Given the description of an element on the screen output the (x, y) to click on. 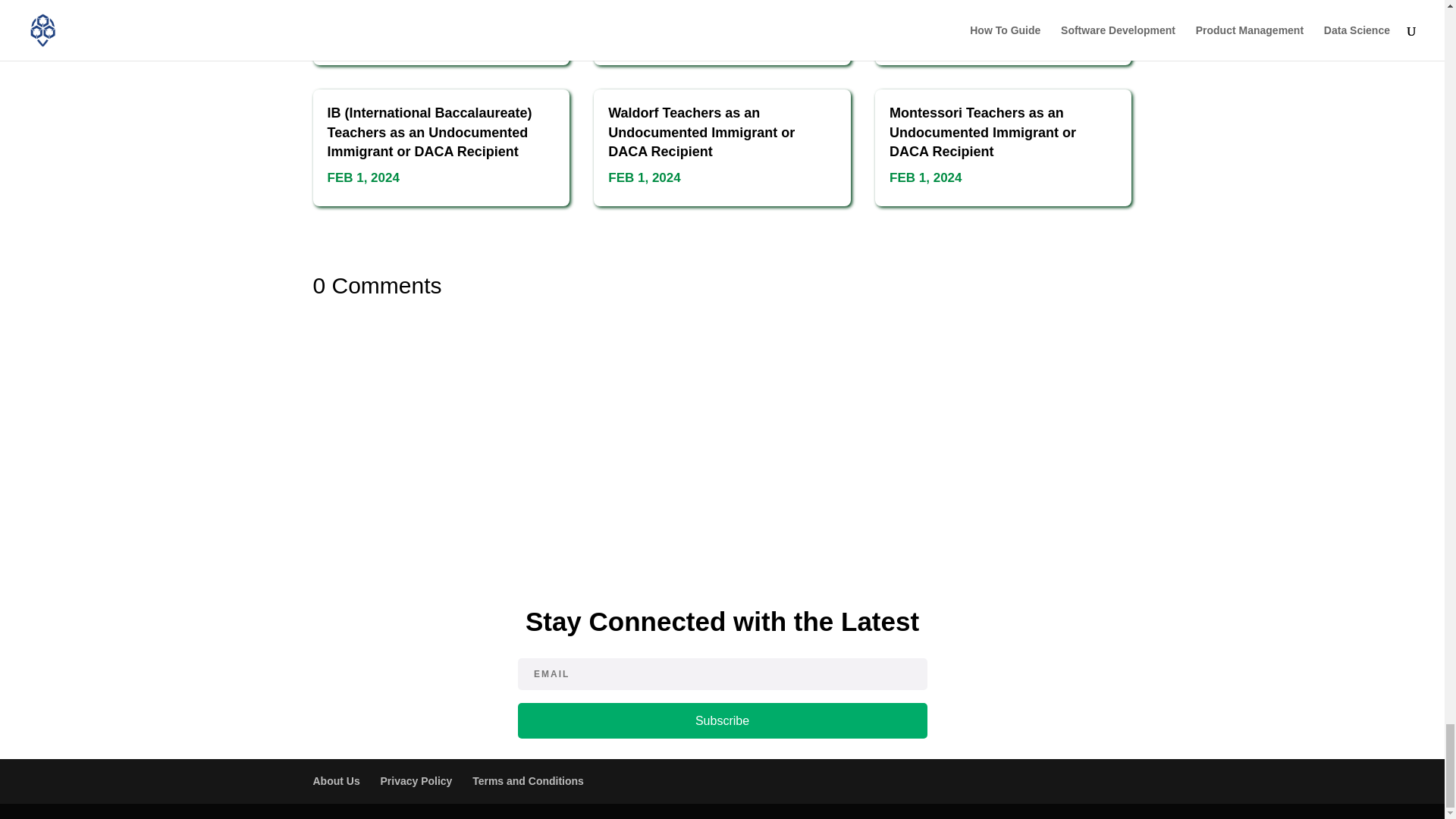
About Us (336, 780)
Subscribe (721, 720)
Terms and Conditions (527, 780)
Privacy Policy (415, 780)
